Given the description of an element on the screen output the (x, y) to click on. 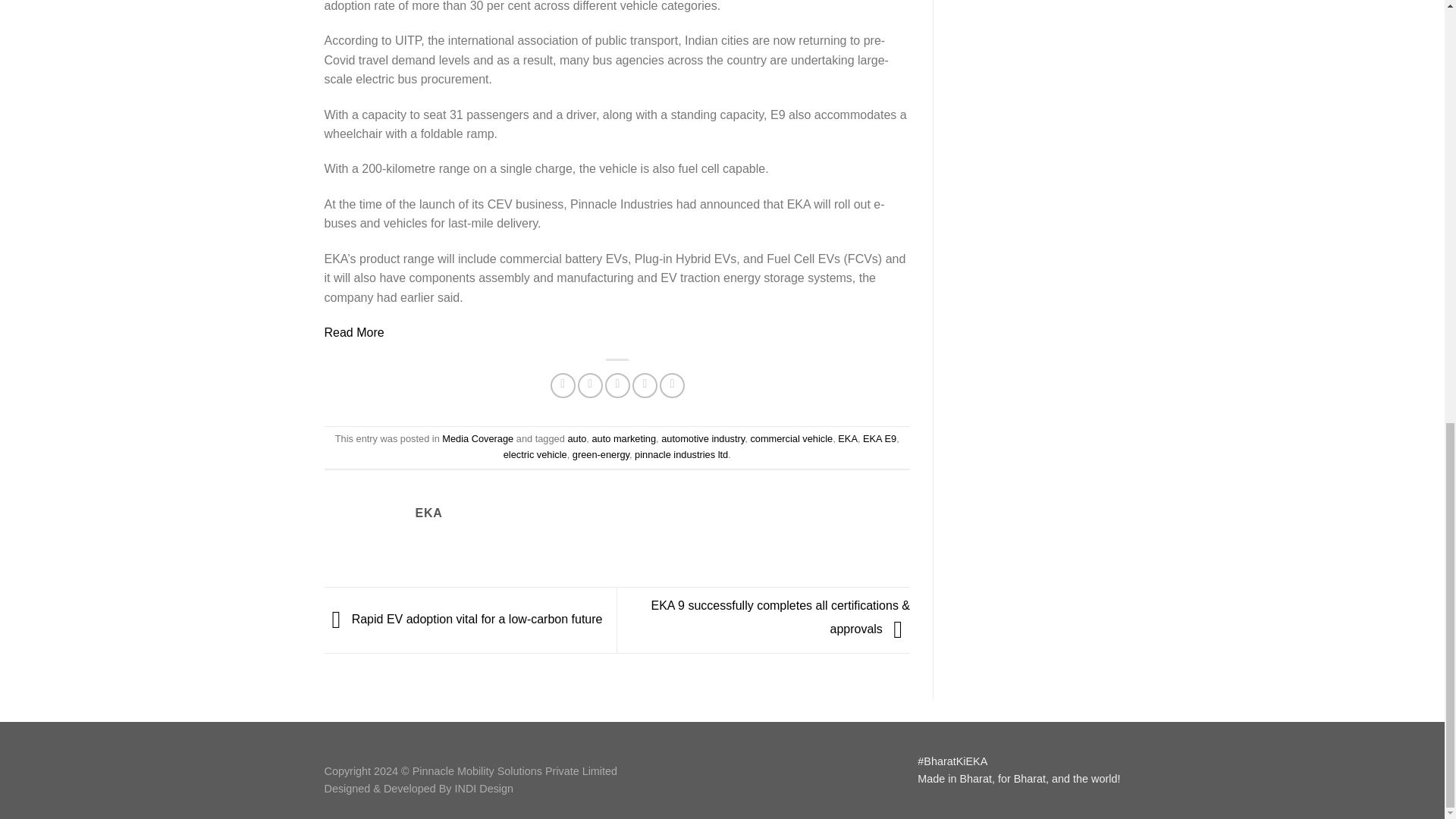
auto marketing (623, 438)
Media Coverage (477, 438)
Email to a Friend (617, 385)
Read More (354, 332)
automotive industry (702, 438)
Share on LinkedIn (671, 385)
electric vehicle (535, 454)
EKA (847, 438)
green-energy (600, 454)
Share on Twitter (590, 385)
pinnacle industries ltd (681, 454)
Pin on Pinterest (644, 385)
commercial vehicle (790, 438)
Share on Facebook (562, 385)
auto (576, 438)
